Given the description of an element on the screen output the (x, y) to click on. 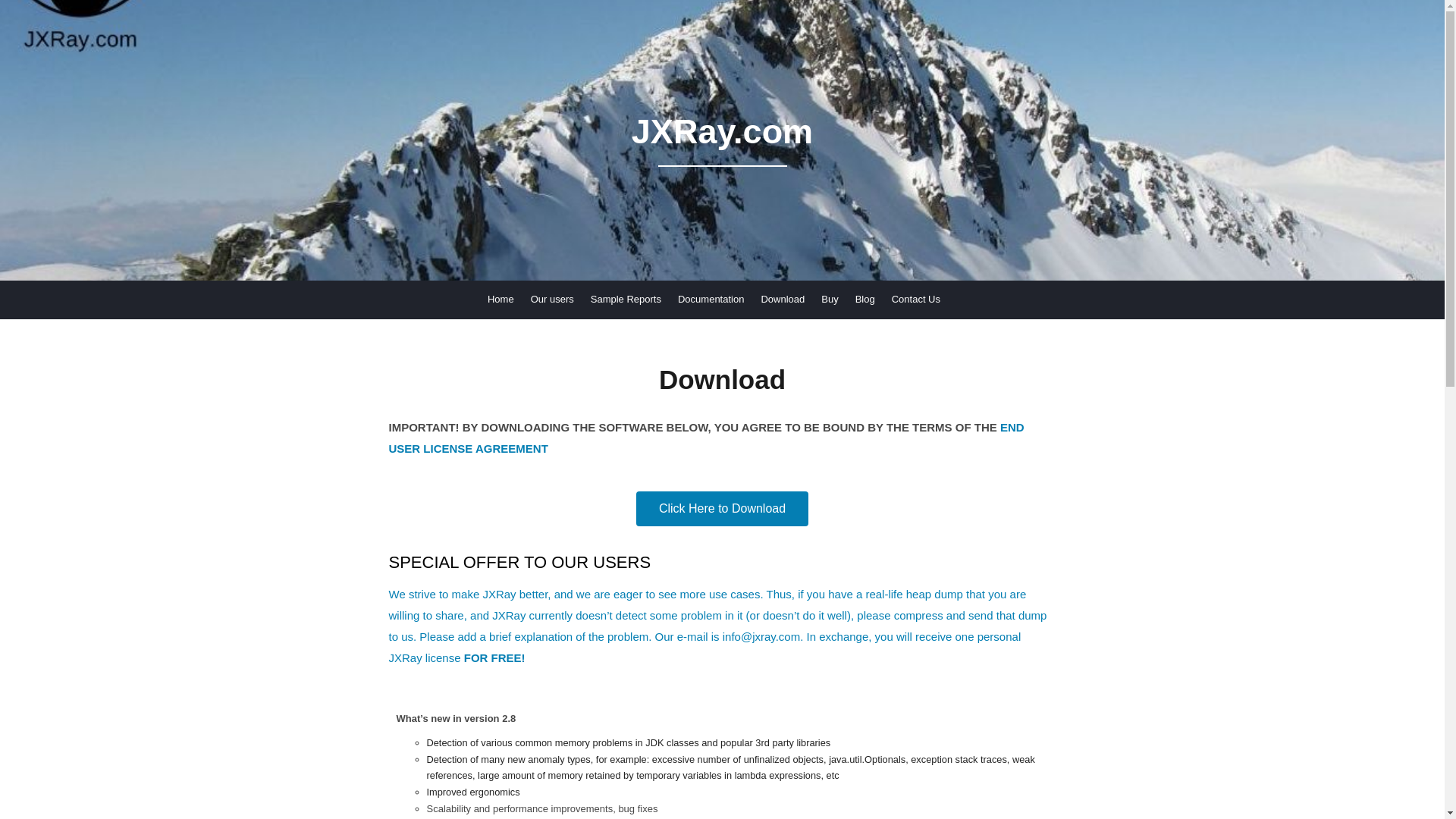
Click Here to Download (722, 508)
Search (30, 11)
Documentation (711, 299)
Home (500, 299)
JXRay.com (721, 138)
Our users (552, 299)
Blog (865, 299)
Contact Us (915, 299)
Sample Reports (626, 299)
END USER LICENSE AGREEMENT (705, 437)
Buy (829, 299)
Download (782, 299)
